Given the description of an element on the screen output the (x, y) to click on. 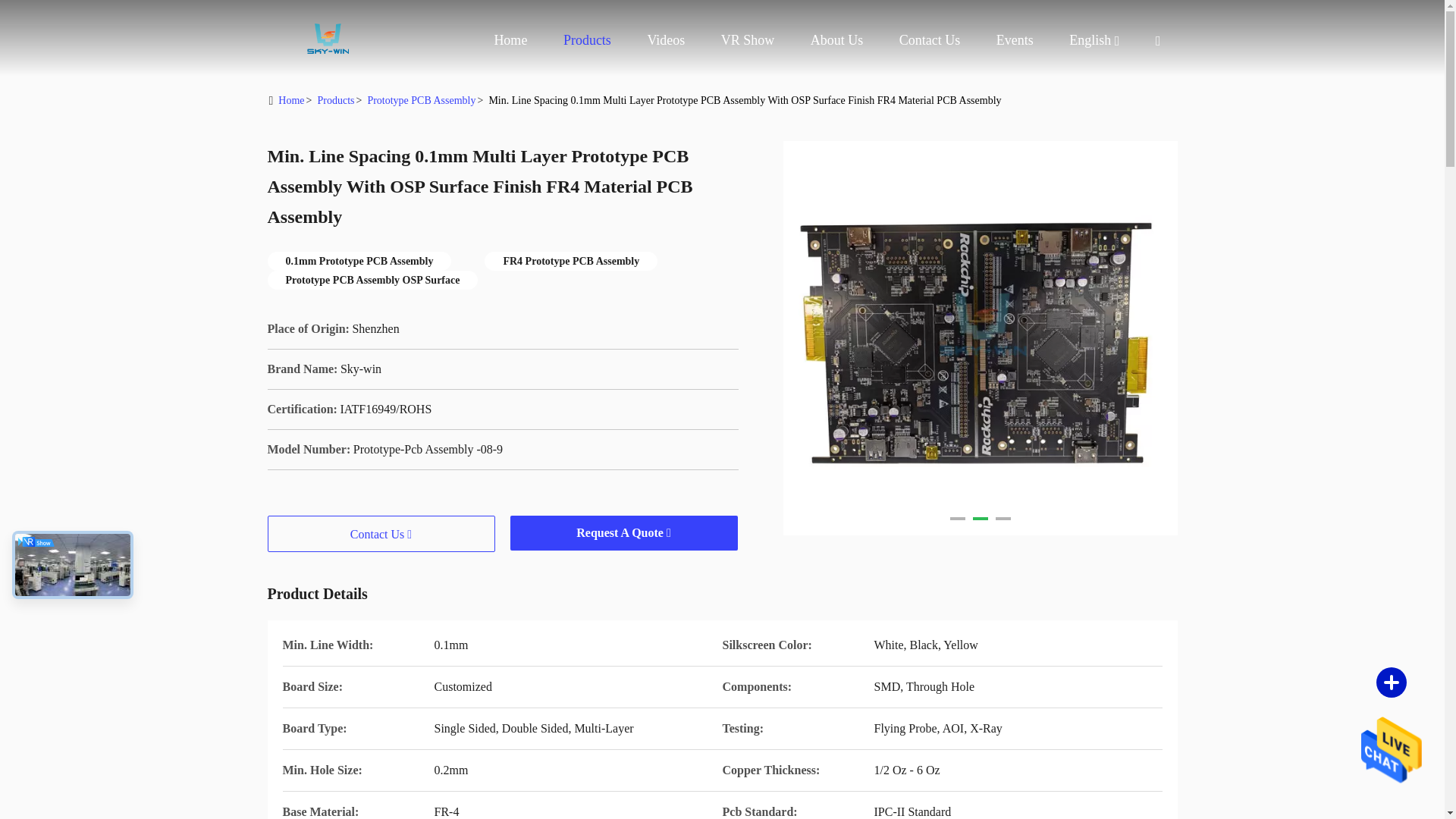
Contact Us (929, 40)
Products (587, 40)
Products (587, 40)
VR Show (747, 40)
VR Show (747, 40)
Home (327, 37)
About Us (836, 40)
About Us (836, 40)
